Given the description of an element on the screen output the (x, y) to click on. 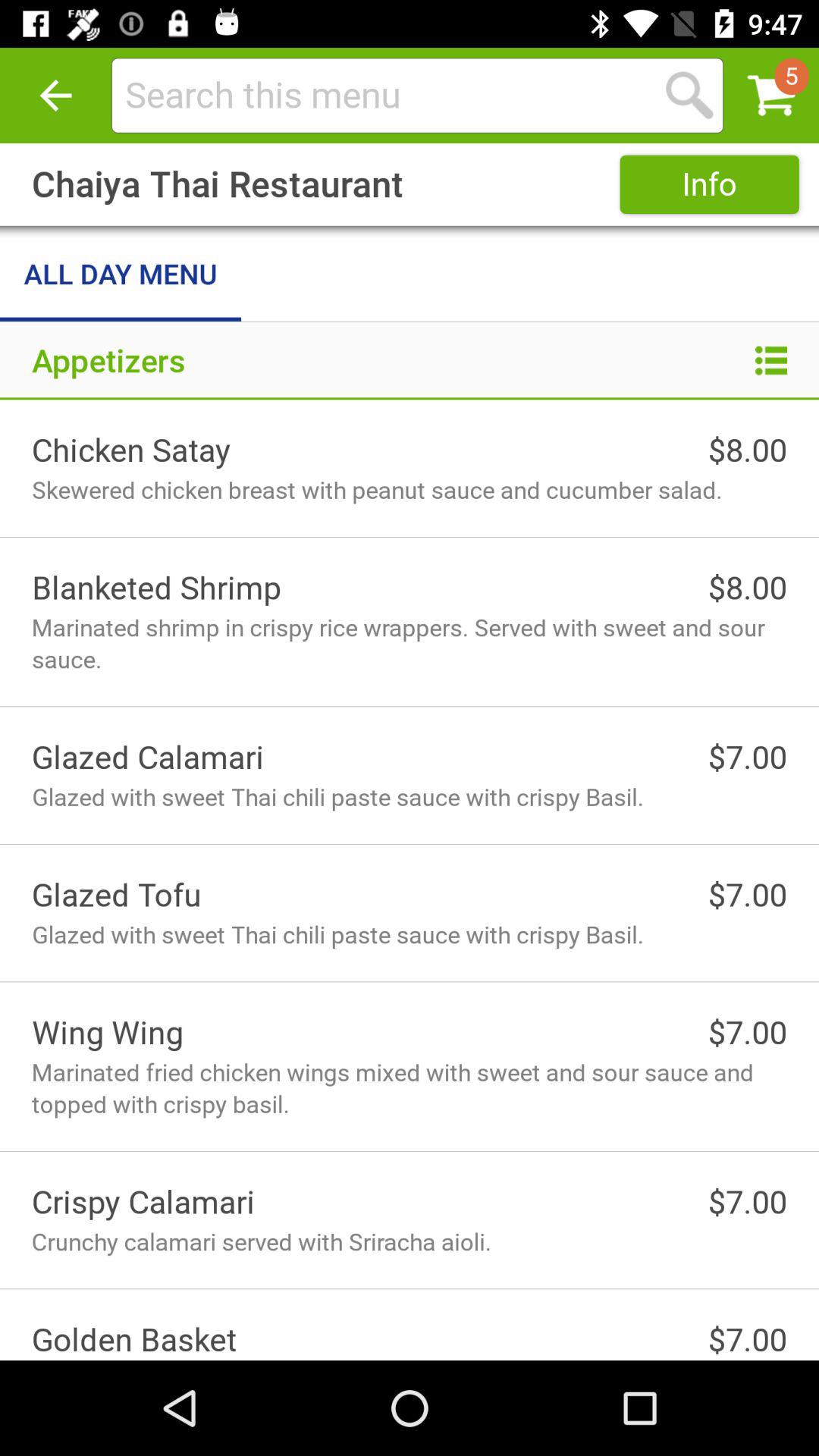
select the item above info (383, 95)
